Given the description of an element on the screen output the (x, y) to click on. 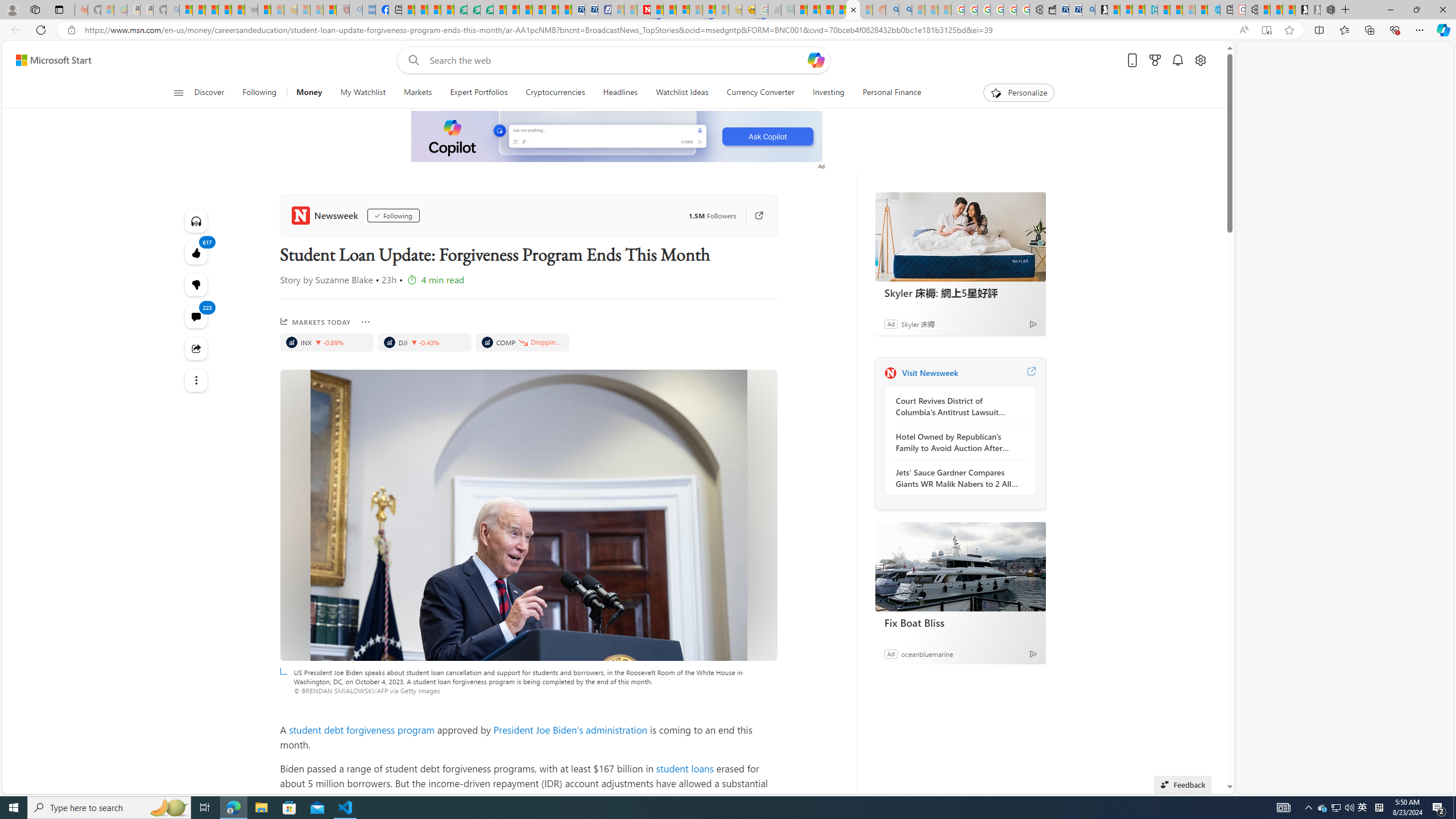
New Report Confirms 2023 Was Record Hot | Watch (237, 9)
Ad (890, 653)
Listen to this article (196, 220)
Skip to footer (46, 59)
LendingTree - Compare Lenders (460, 9)
Class: button-glyph (178, 92)
